Given the description of an element on the screen output the (x, y) to click on. 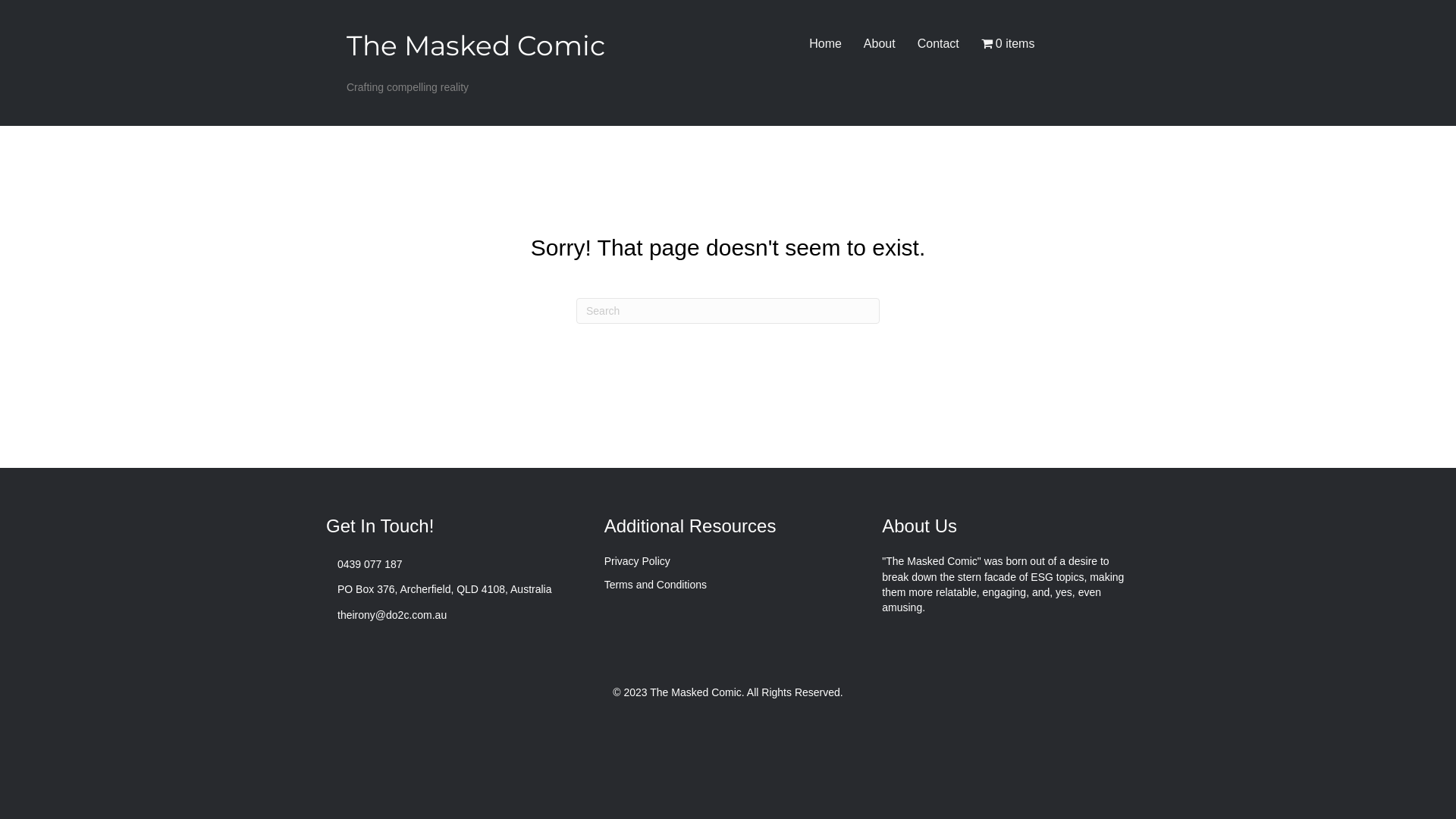
Type and press Enter to search. Element type: hover (727, 310)
The Masked Comic Element type: text (475, 45)
Contact Element type: text (937, 43)
theirony@do2c.com.au Element type: text (391, 614)
PO Box 376, Archerfield, QLD 4108, Australia Element type: text (444, 588)
0 items Element type: text (1007, 43)
Terms and Conditions Element type: text (655, 584)
Privacy Policy Element type: text (637, 561)
About Element type: text (879, 43)
0439 077 187 Element type: text (369, 563)
Home Element type: text (825, 43)
